Given the description of an element on the screen output the (x, y) to click on. 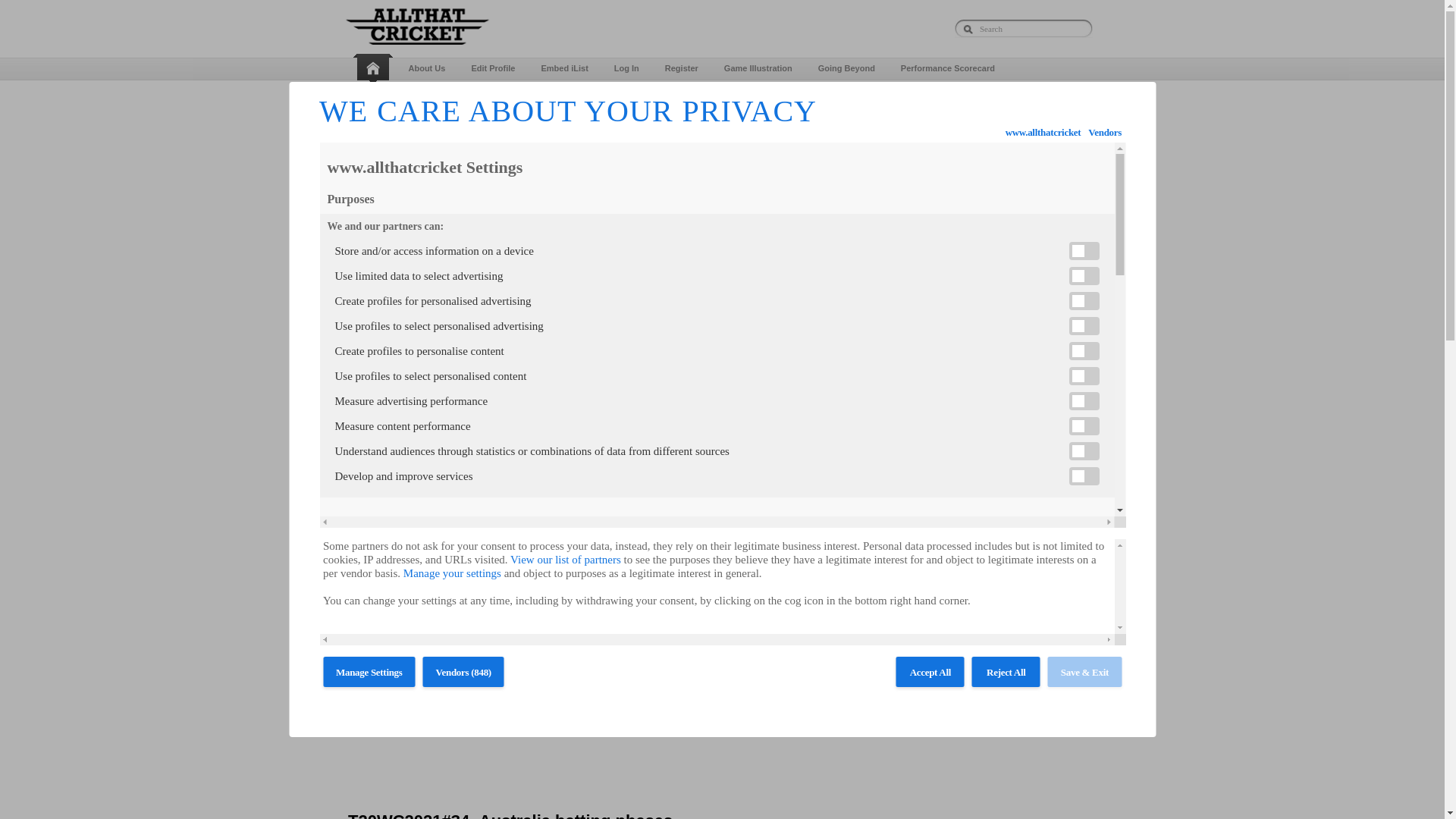
Embed iList (563, 68)
score card and floorchart (546, 96)
Think like a cricketer (664, 96)
Going Beyond (846, 68)
Processed Data (440, 96)
Performance Scorecard (947, 68)
home (374, 69)
Edit Profile (492, 68)
Manage your settings (451, 573)
About Us (427, 68)
Log In (626, 68)
Register (1063, 123)
Search (681, 68)
